Given the description of an element on the screen output the (x, y) to click on. 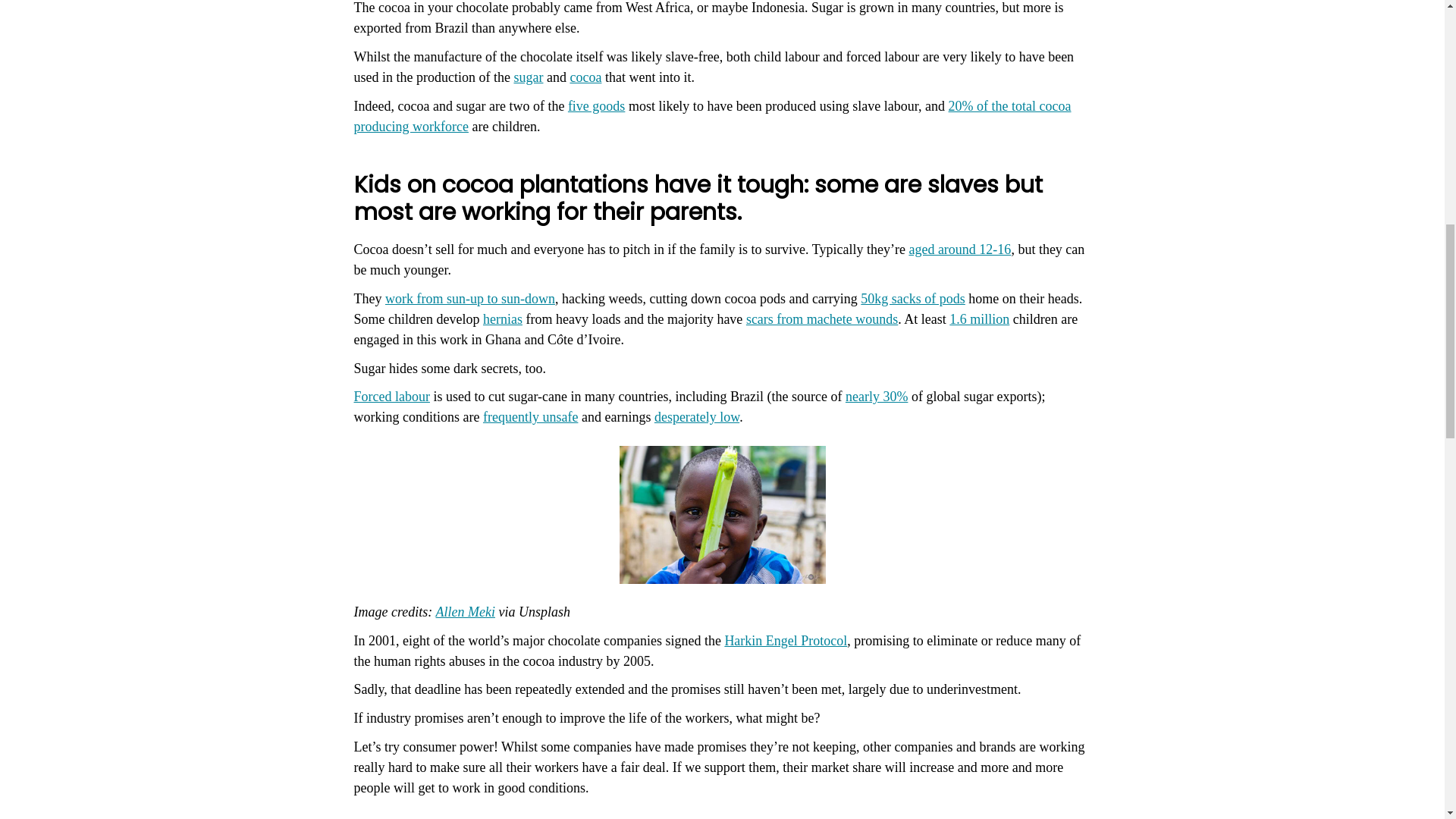
aged around 12-16 (959, 249)
five goods (596, 105)
hernias (502, 319)
work from sun-up to sun-down (469, 298)
sugar (528, 77)
allen meki rocgrdenx54 unsplash (721, 514)
cocoa (585, 77)
50kg sacks of pods (912, 298)
